Given the description of an element on the screen output the (x, y) to click on. 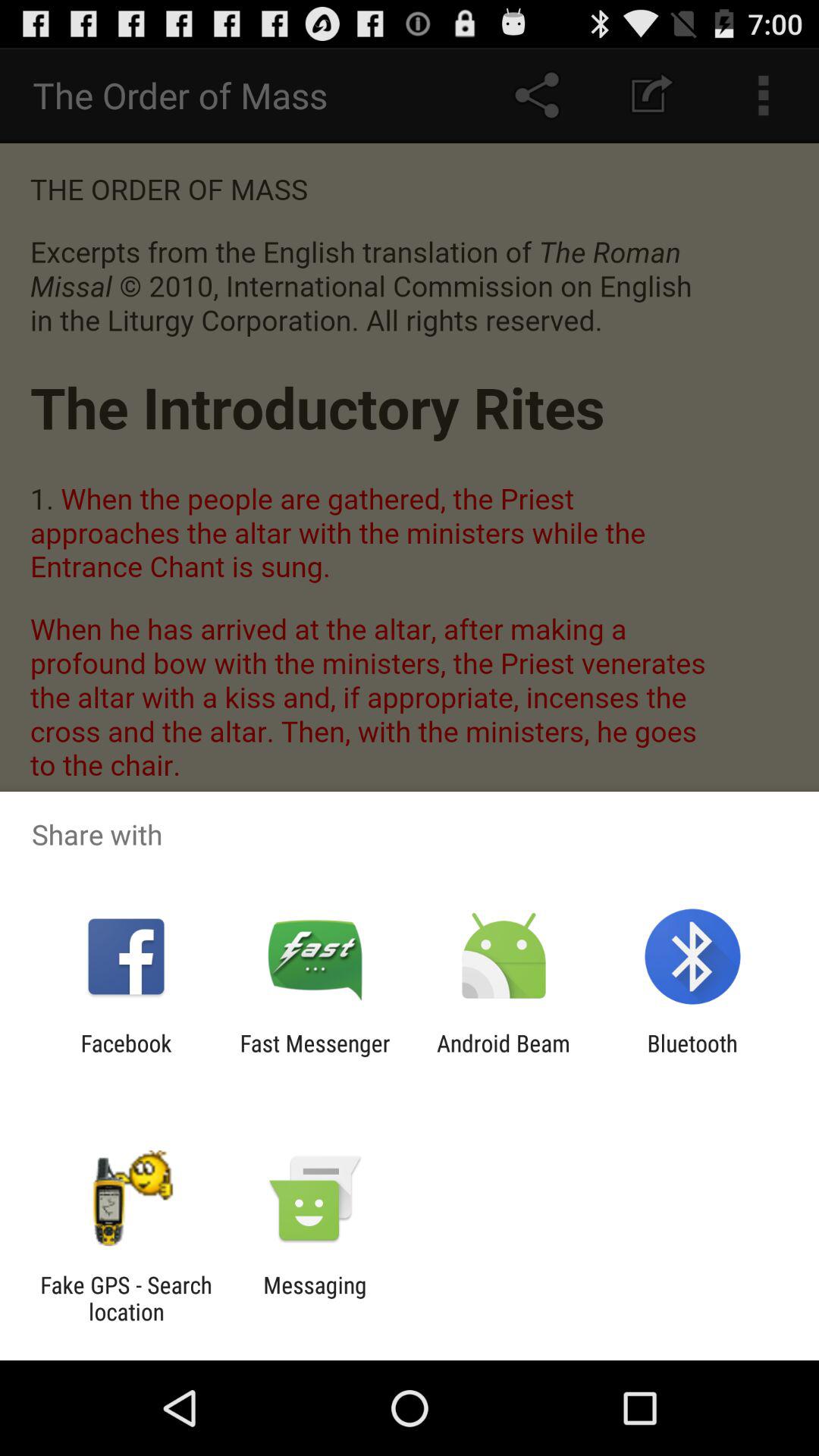
open app to the right of fast messenger icon (503, 1056)
